Given the description of an element on the screen output the (x, y) to click on. 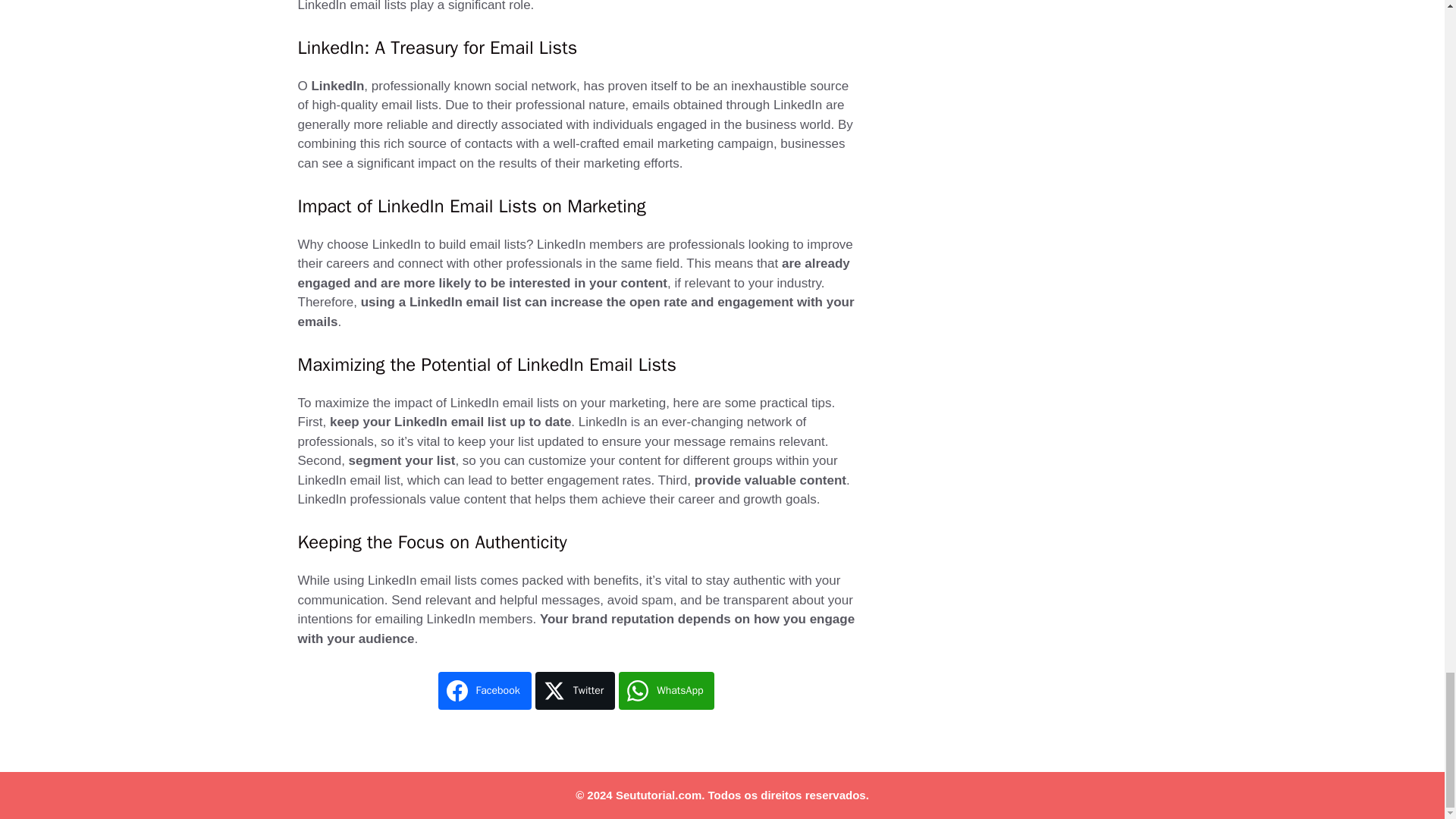
Share on Facebook (484, 690)
Share on WhatsApp (666, 690)
Share on Twitter (575, 690)
